Given the description of an element on the screen output the (x, y) to click on. 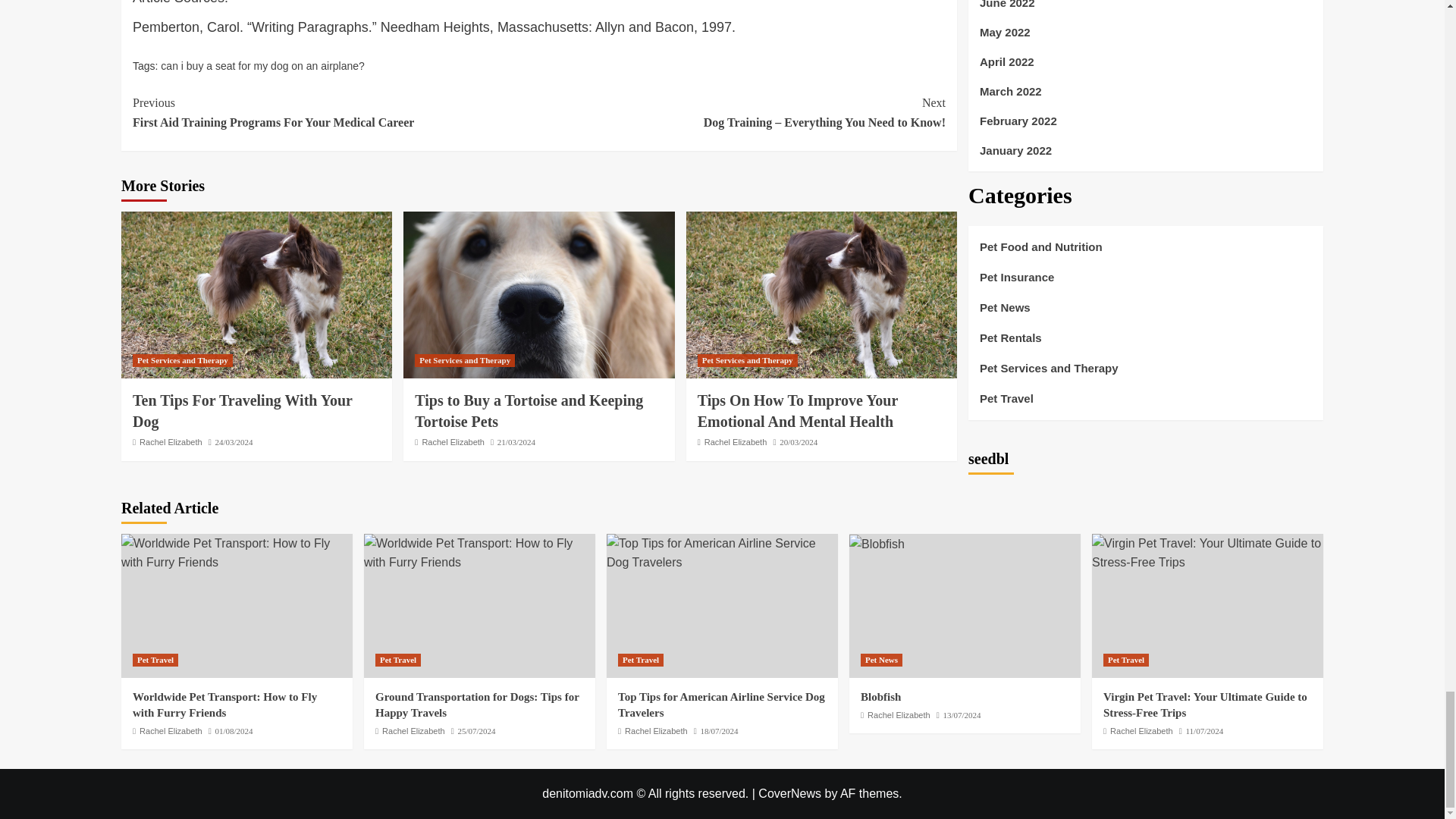
Ten Tips For Traveling With Your Dog (820, 294)
Virgin Pet Travel: Your Ultimate Guide to Stress-Free Trips (1207, 552)
Worldwide Pet Transport: How to Fly with Furry Friends (236, 552)
Pet Services and Therapy (182, 359)
Blobfish (335, 112)
Top Tips for American Airline Service Dog Travelers (876, 544)
Rachel Elizabeth (722, 552)
Worldwide Pet Transport: How to Fly with Furry Friends (735, 441)
Tips to Buy a Tortoise and Keeping Tortoise Pets (479, 552)
Tips to Buy a Tortoise and Keeping Tortoise Pets (528, 410)
Ten Tips For Traveling With Your Dog (538, 294)
Tips On How To Improve Your Emotional And Mental Health (242, 410)
Pet Services and Therapy (797, 410)
Ten Tips For Traveling With Your Dog (464, 359)
